Given the description of an element on the screen output the (x, y) to click on. 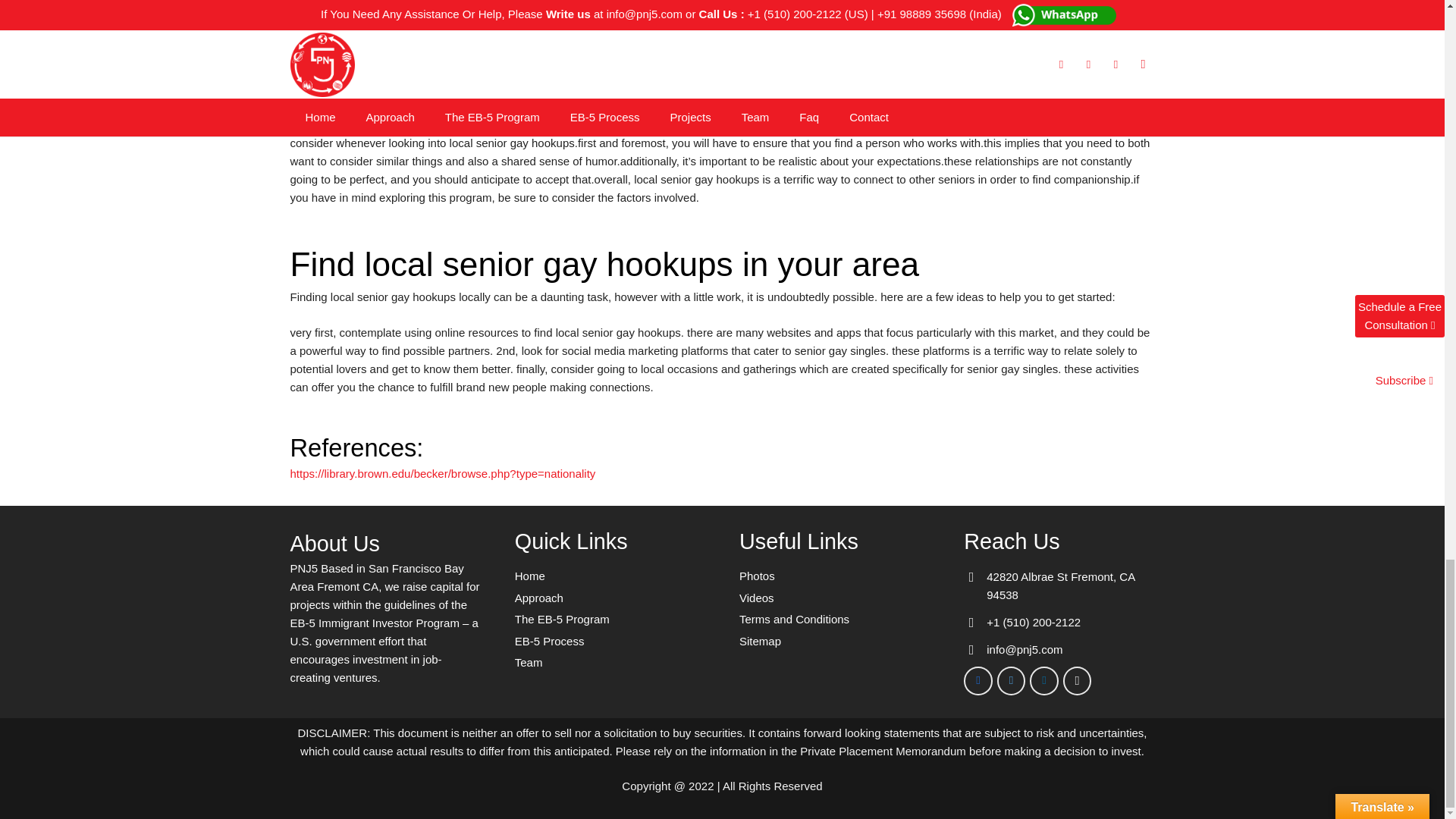
Facebook (977, 680)
Twitter (1011, 680)
Home (529, 575)
Instagram (1077, 680)
Team (529, 662)
Sitemap (759, 640)
EB-5 Process (550, 640)
Approach (539, 597)
Videos (756, 597)
The EB-5 Program (562, 618)
Photos (756, 575)
Terms and Conditions (793, 618)
LinkedIn (1043, 680)
